Given the description of an element on the screen output the (x, y) to click on. 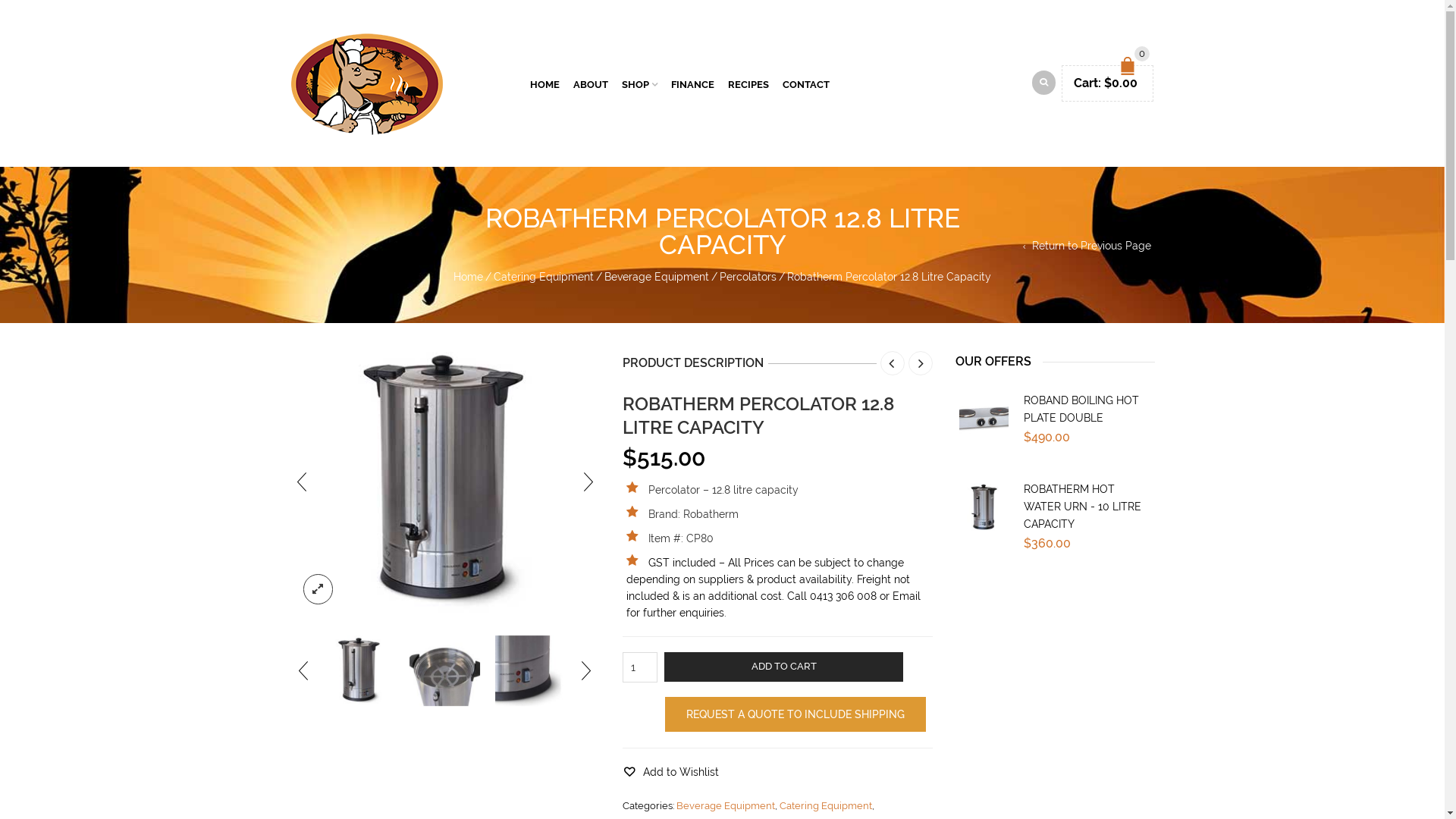
FINANCE Element type: text (692, 83)
lightbox Element type: text (318, 589)
Percolators Element type: text (747, 276)
Beverage Equipment Element type: text (725, 805)
Catering Equipment Element type: text (543, 276)
ADD TO CART Element type: text (783, 666)
SHOP Element type: text (639, 83)
Return to Previous Page Element type: text (1086, 245)
ROBAND BOILING HOT PLATE DOUBLE Element type: text (1081, 408)
Robatherm Percolator 12.8 Litre Capacity Model CP80 Element type: hover (530, 670)
ABOUT Element type: text (590, 83)
ROBATHERM HOT WATER URN - 10 LITRE CAPACITY Element type: text (1082, 506)
Add to Wishlist Element type: text (670, 771)
Catering Equipment Element type: text (825, 805)
Beverage Equipment Element type: text (656, 276)
Robatherm Percolator 12.8 Litre Capacity Model CP80 Element type: hover (359, 670)
Home Element type: text (468, 276)
Robatherm Hot Water Urn - 10 Litre Capacity Element type: hover (983, 507)
RECIPES Element type: text (748, 83)
Robatherm Percolator 12.8 Litre Capacity Model CP80 Element type: hover (359, 670)
REQUEST A QUOTE TO INCLUDE SHIPPING Element type: text (795, 714)
HOME Element type: text (544, 83)
Roband Boiling Hot Plate Double Element type: hover (983, 418)
Email for further enquiries Element type: text (773, 603)
CONTACT Element type: text (805, 83)
Robatherm Percolator 12.8 Litre Capacity Model CP80 Element type: hover (444, 670)
